Given the description of an element on the screen output the (x, y) to click on. 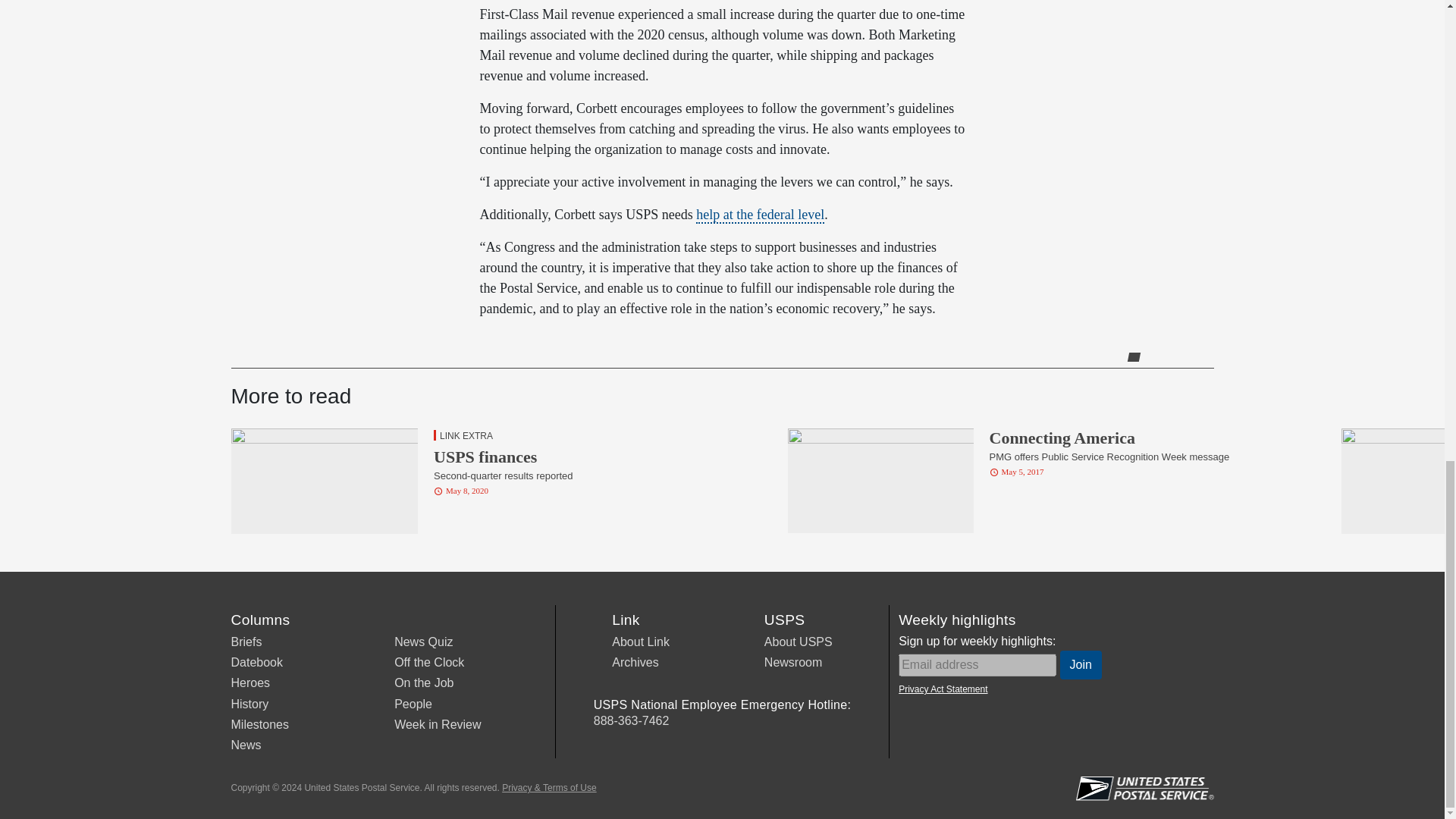
Off the Clock (429, 662)
Datebook (256, 662)
News Quiz (423, 641)
On the Job (423, 682)
help at the federal level (759, 215)
People (413, 703)
Milestones (259, 724)
News (245, 744)
